Given the description of an element on the screen output the (x, y) to click on. 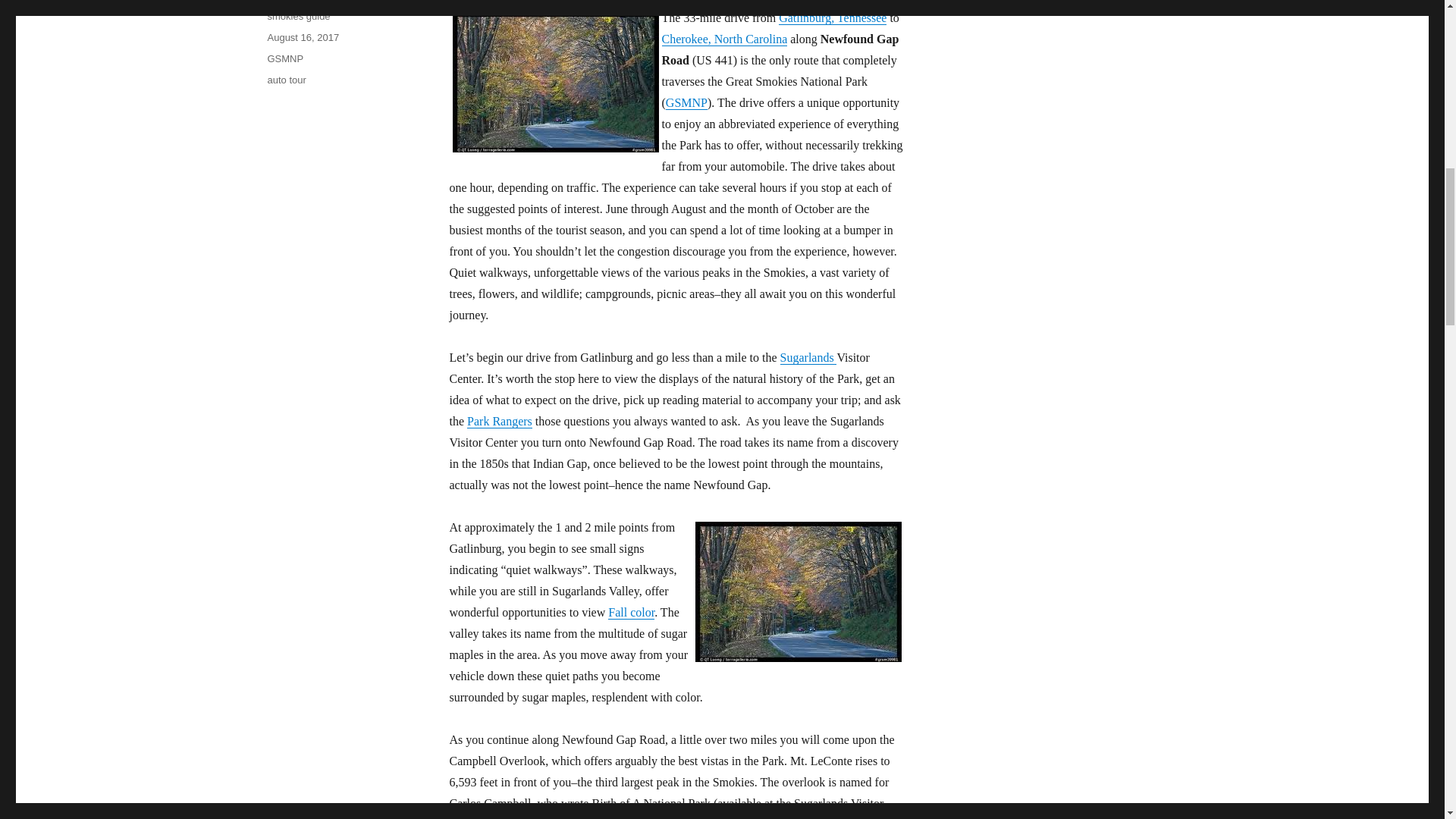
Park Rangers (499, 420)
August 16, 2017 (302, 37)
nfgr2 (554, 82)
GSMNP (284, 58)
GSMNP (686, 102)
Gatlinburg, Tennessee (832, 17)
auto tour (285, 79)
Cherokee, North Carolina (724, 38)
nfgr2 (797, 591)
Fall color (630, 612)
